Given the description of an element on the screen output the (x, y) to click on. 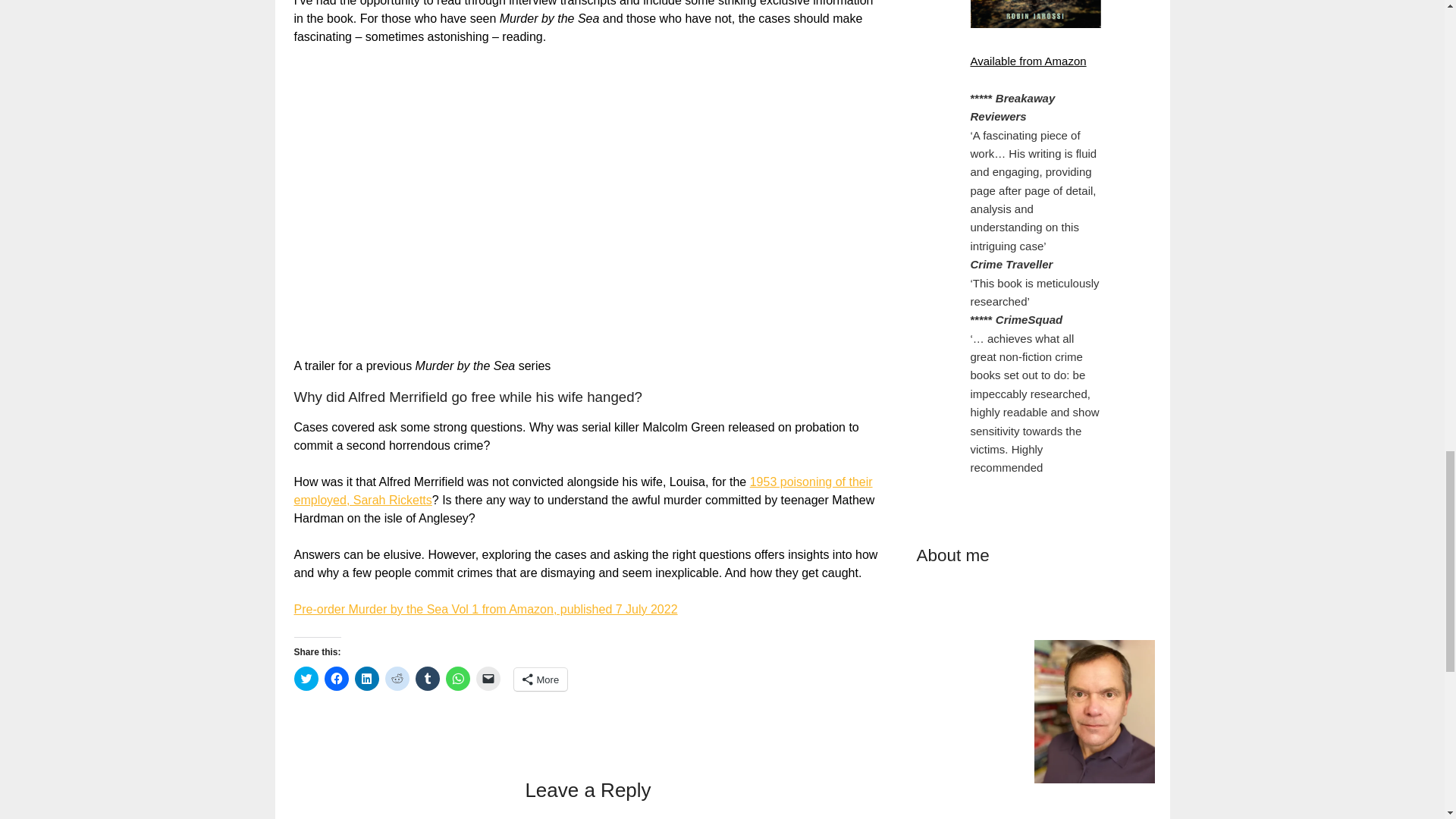
Click to share on Tumblr (426, 678)
Click to share on Reddit (397, 678)
Click to share on Twitter (306, 678)
Click to email a link to a friend (488, 678)
More (540, 679)
Available from Amazon (1028, 60)
1953 poisoning of their employed, Sarah Ricketts (583, 490)
Click to share on Facebook (336, 678)
Click to share on WhatsApp (457, 678)
Click to share on LinkedIn (366, 678)
